Given the description of an element on the screen output the (x, y) to click on. 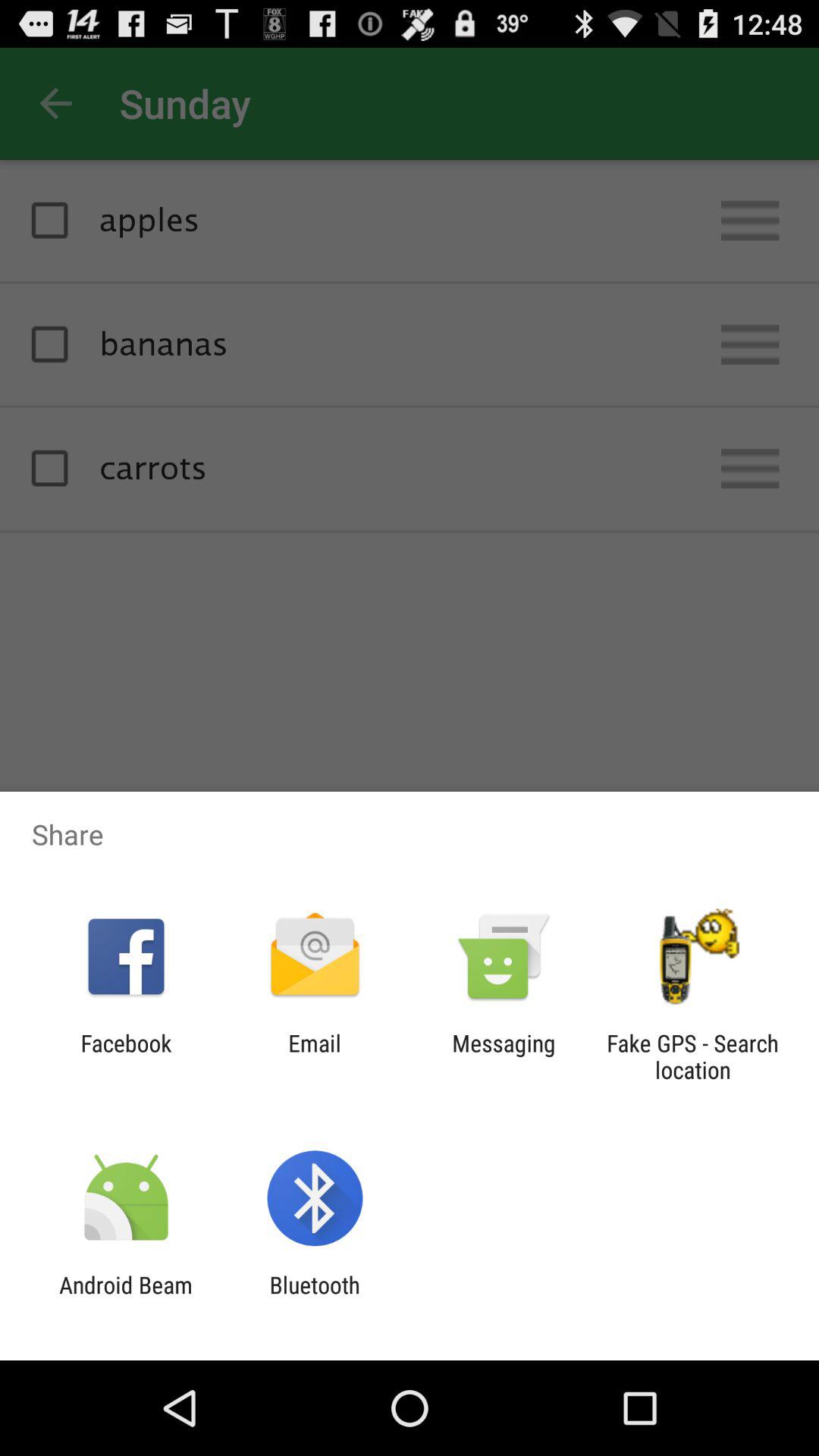
swipe to the messaging (503, 1056)
